Given the description of an element on the screen output the (x, y) to click on. 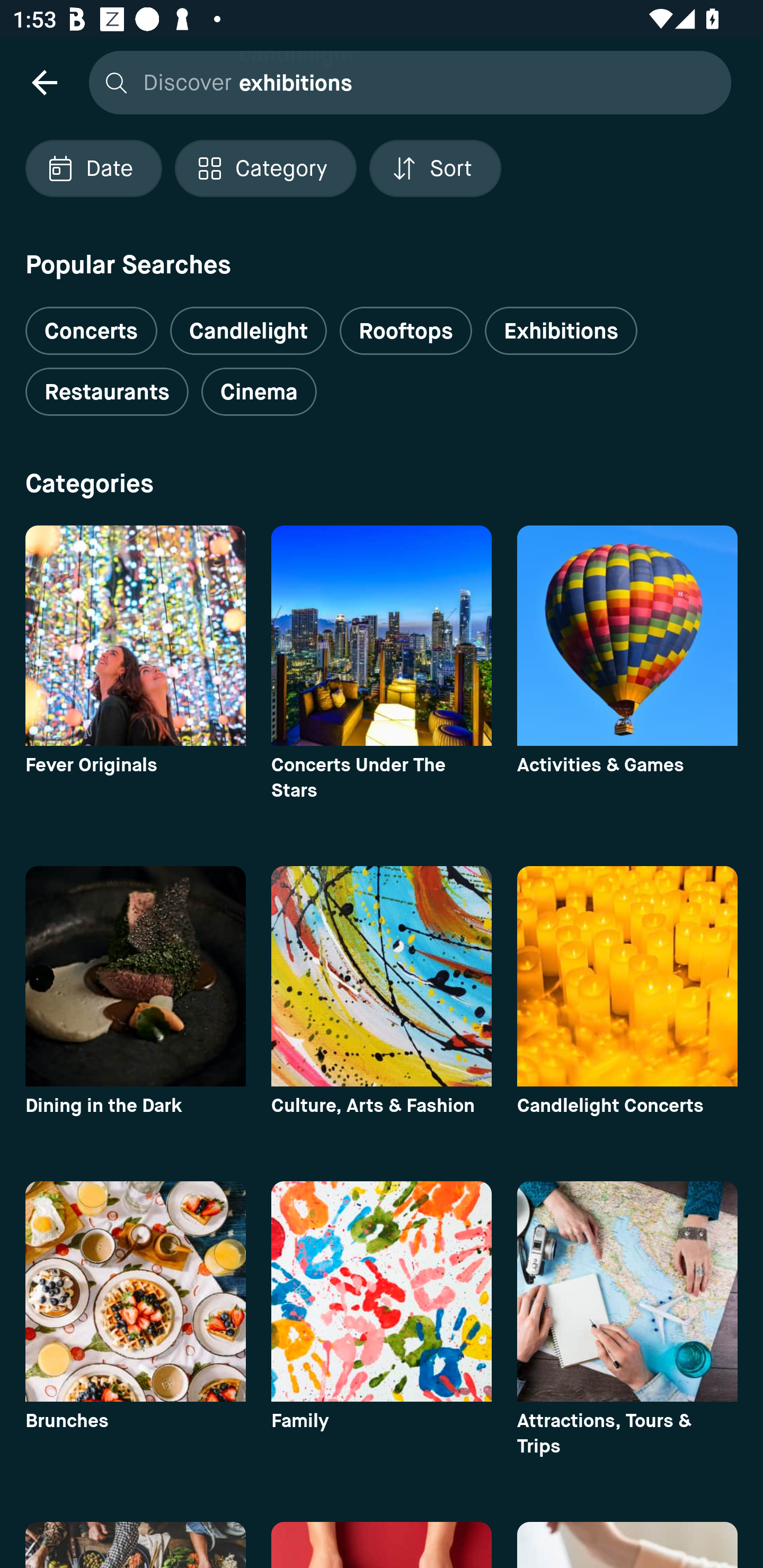
navigation icon (44, 81)
Discover candlelight exhibitions (405, 81)
Localized description Date (93, 168)
Localized description Category (265, 168)
Localized description Sort (435, 168)
Concerts (91, 323)
Candlelight (248, 330)
Rooftops (405, 330)
Exhibitions (560, 330)
Restaurants (106, 391)
Cinema (258, 391)
category image (135, 635)
category image (381, 635)
category image (627, 635)
category image (135, 975)
category image (381, 975)
category image (627, 975)
category image (135, 1290)
category image (381, 1290)
category image (627, 1290)
